Given the description of an element on the screen output the (x, y) to click on. 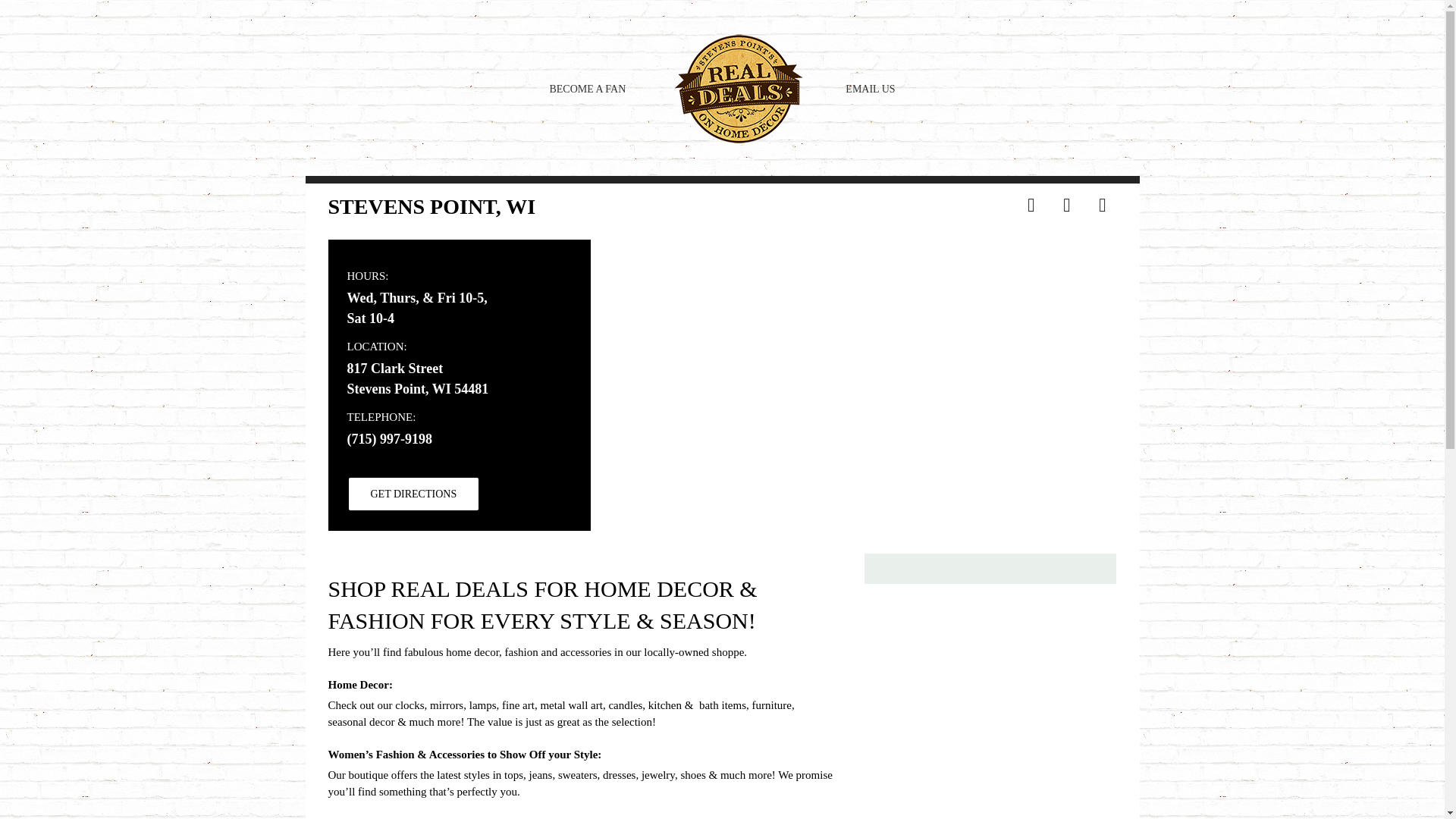
STEVENS POINT, WI (721, 212)
EMAIL US (870, 87)
GET DIRECTIONS (414, 493)
BECOME A FAN (587, 87)
